Given the description of an element on the screen output the (x, y) to click on. 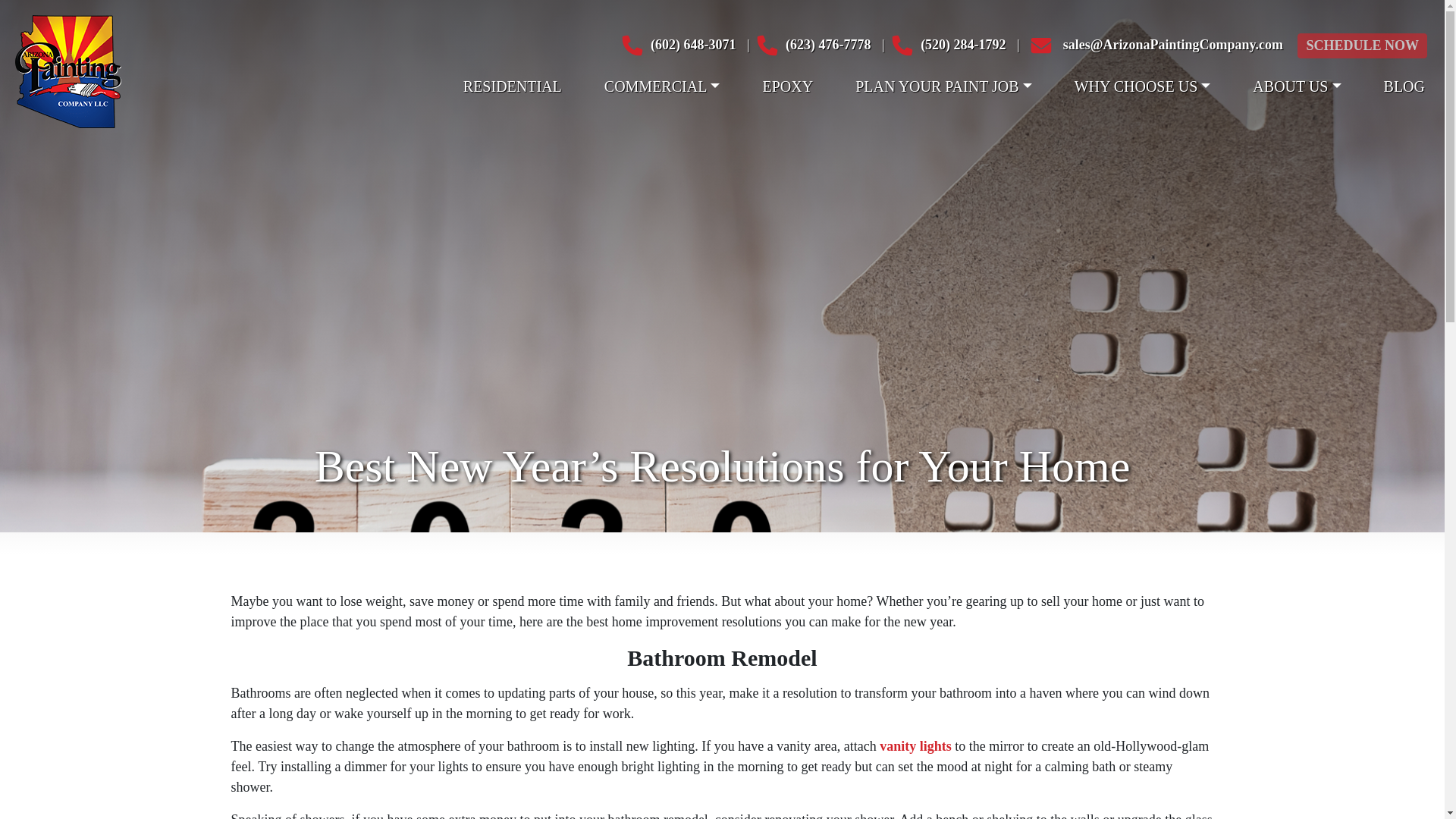
Epoxy (786, 86)
Plan Your Paint Job (943, 86)
BLOG (1404, 86)
WHY CHOOSE US (1142, 86)
Commercial (662, 86)
EPOXY (786, 86)
PLAN YOUR PAINT JOB (943, 86)
RESIDENTIAL (512, 86)
SCHEDULE NOW (1361, 45)
Residential (512, 86)
Arizona Painting Company LLC (67, 70)
ABOUT US (1296, 86)
COMMERCIAL (662, 86)
